Given the description of an element on the screen output the (x, y) to click on. 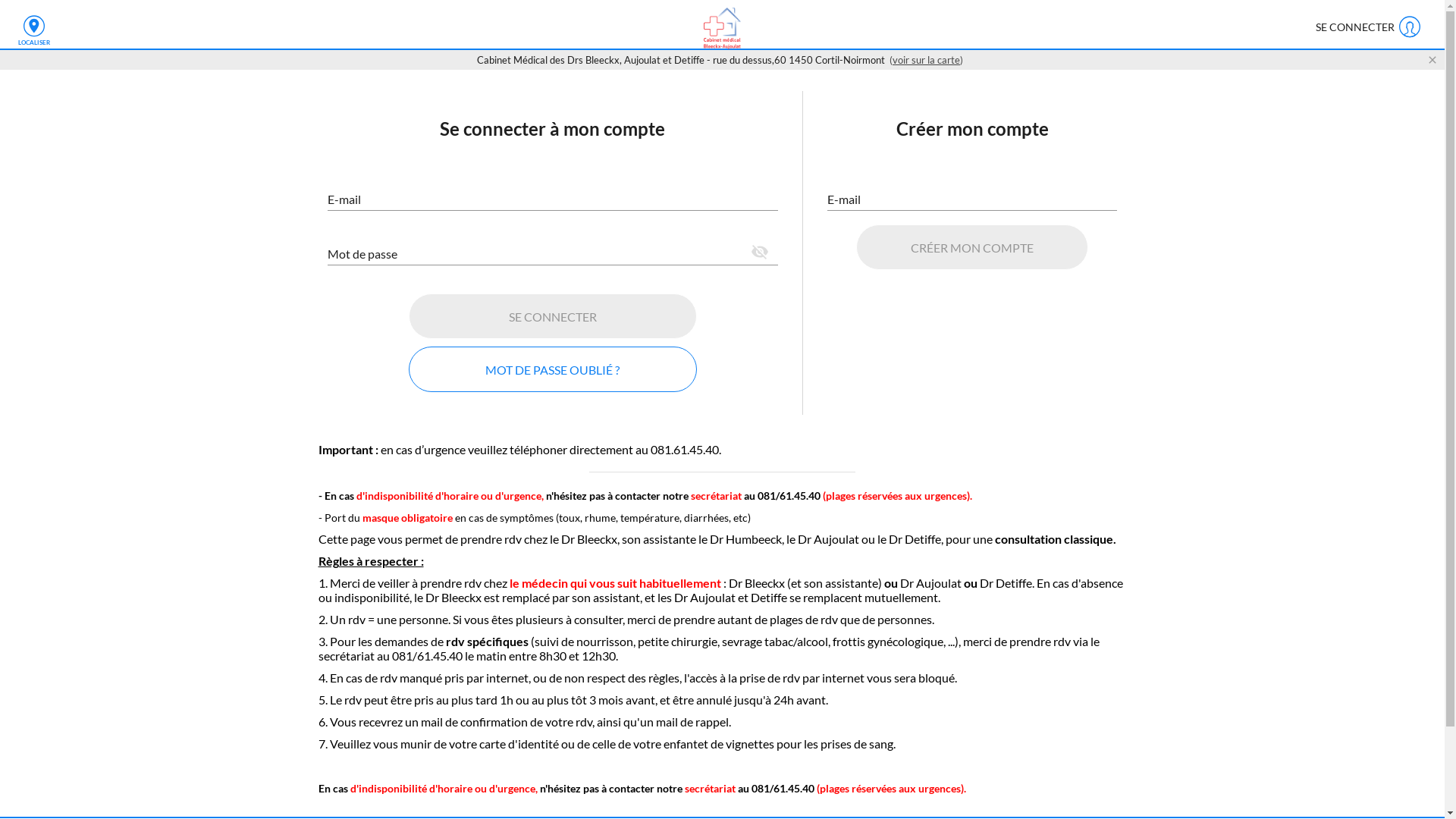
SE CONNECTER Element type: text (552, 315)
SE CONNECTER Element type: text (1366, 27)
(voir sur la carte) Element type: text (925, 59)
